Given the description of an element on the screen output the (x, y) to click on. 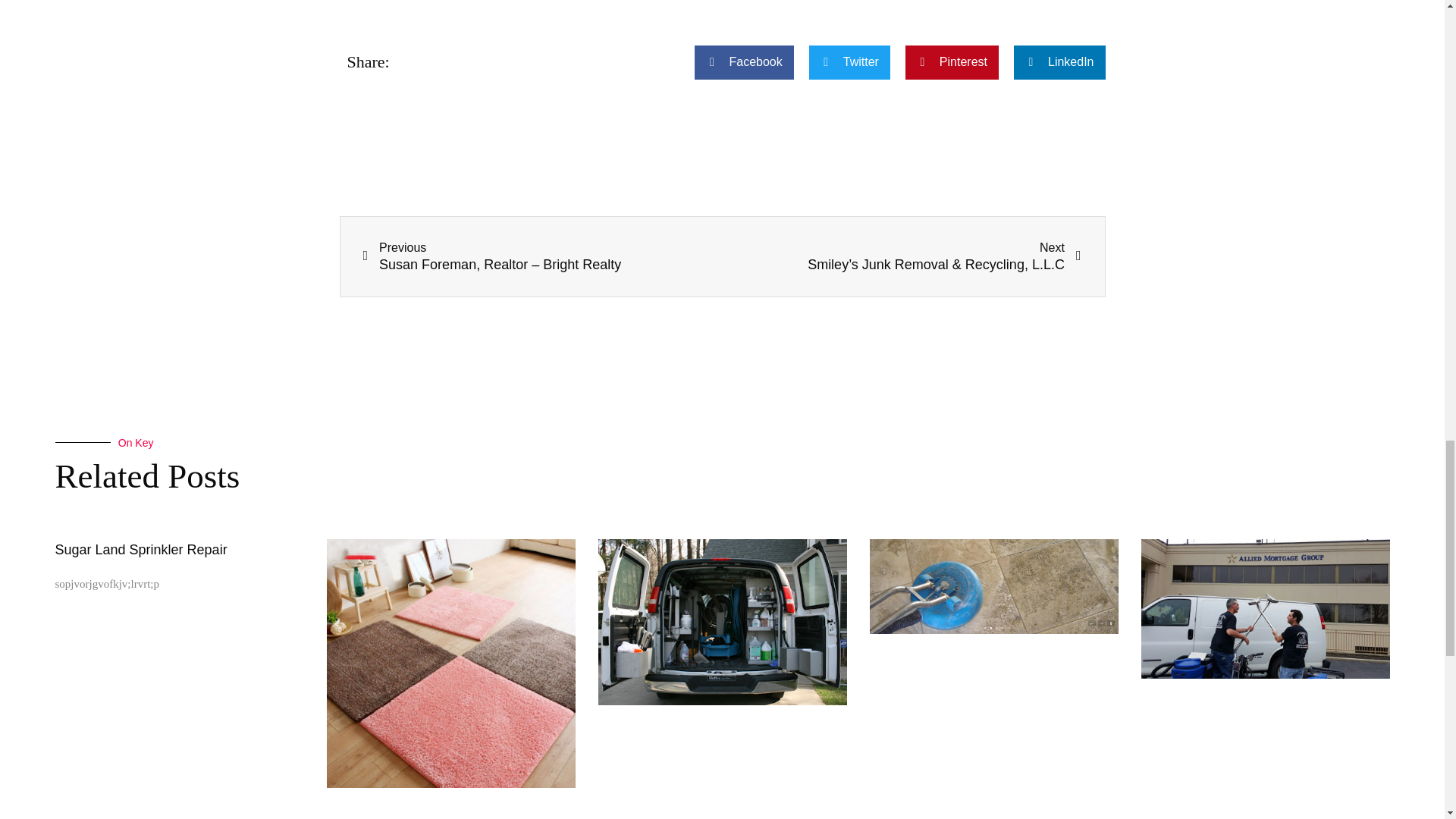
Sugar Land Sprinkler Repair (141, 549)
